Given the description of an element on the screen output the (x, y) to click on. 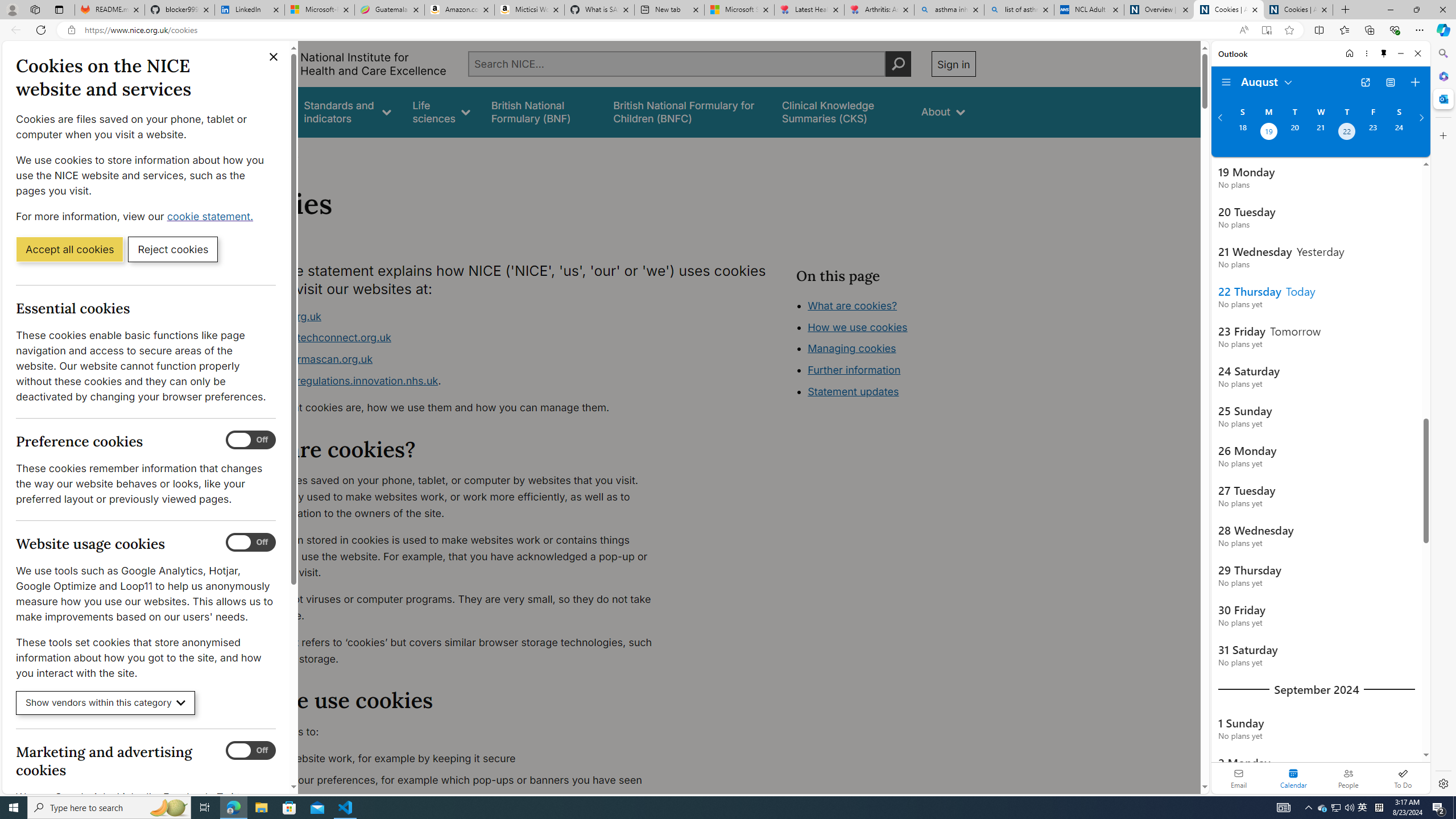
www.nice.org.uk (452, 316)
Wednesday, August 21, 2024.  (1320, 132)
false (841, 111)
Friday, August 23, 2024.  (1372, 132)
